Given the description of an element on the screen output the (x, y) to click on. 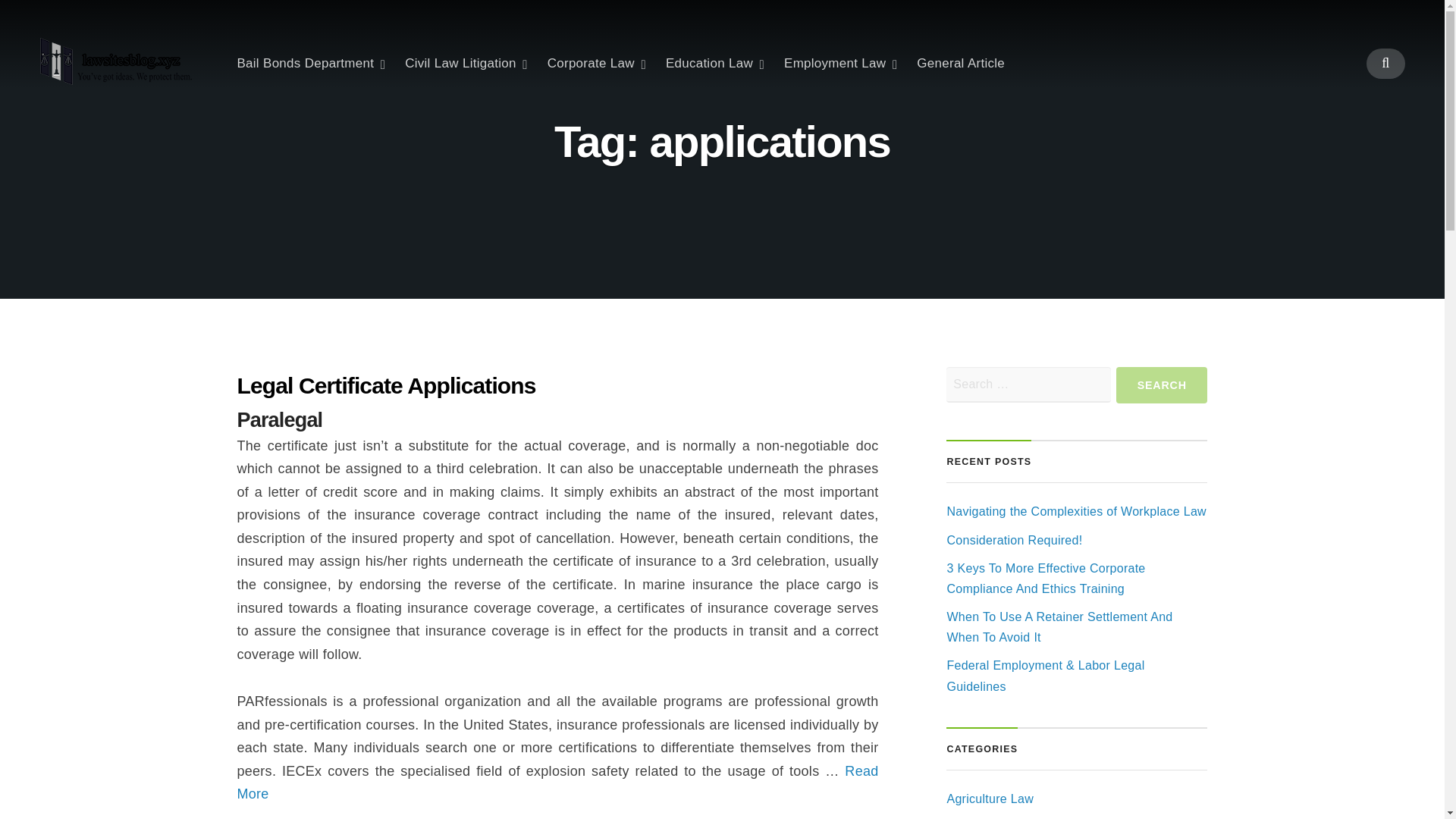
Search (1161, 384)
Employment Law (840, 63)
Education Law (714, 63)
Civil Law Litigation (465, 63)
Corporate Law (596, 63)
General Article (960, 63)
Search (1161, 384)
Bail Bonds Department (310, 63)
